Given the description of an element on the screen output the (x, y) to click on. 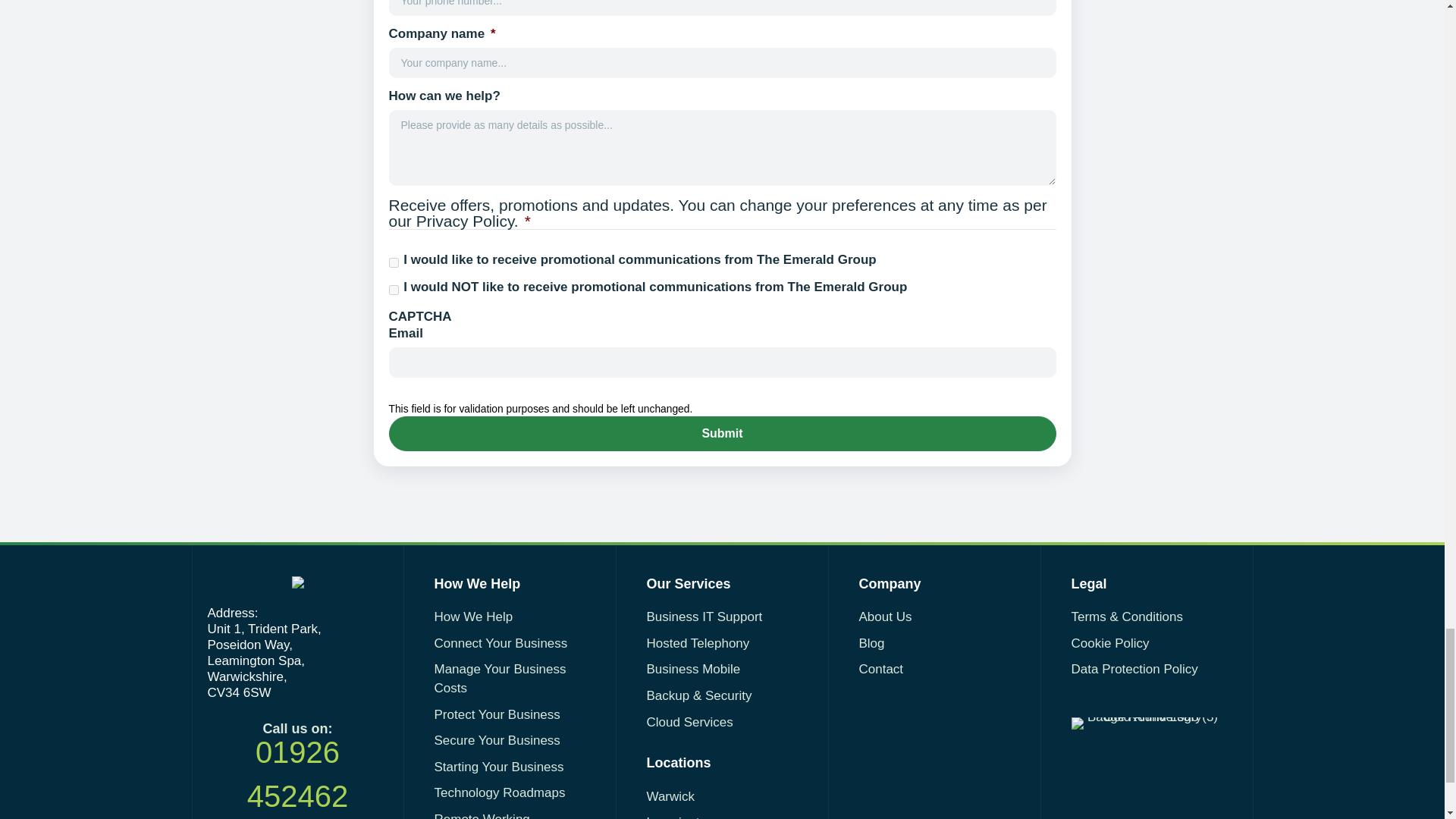
Submit (721, 433)
